Given the description of an element on the screen output the (x, y) to click on. 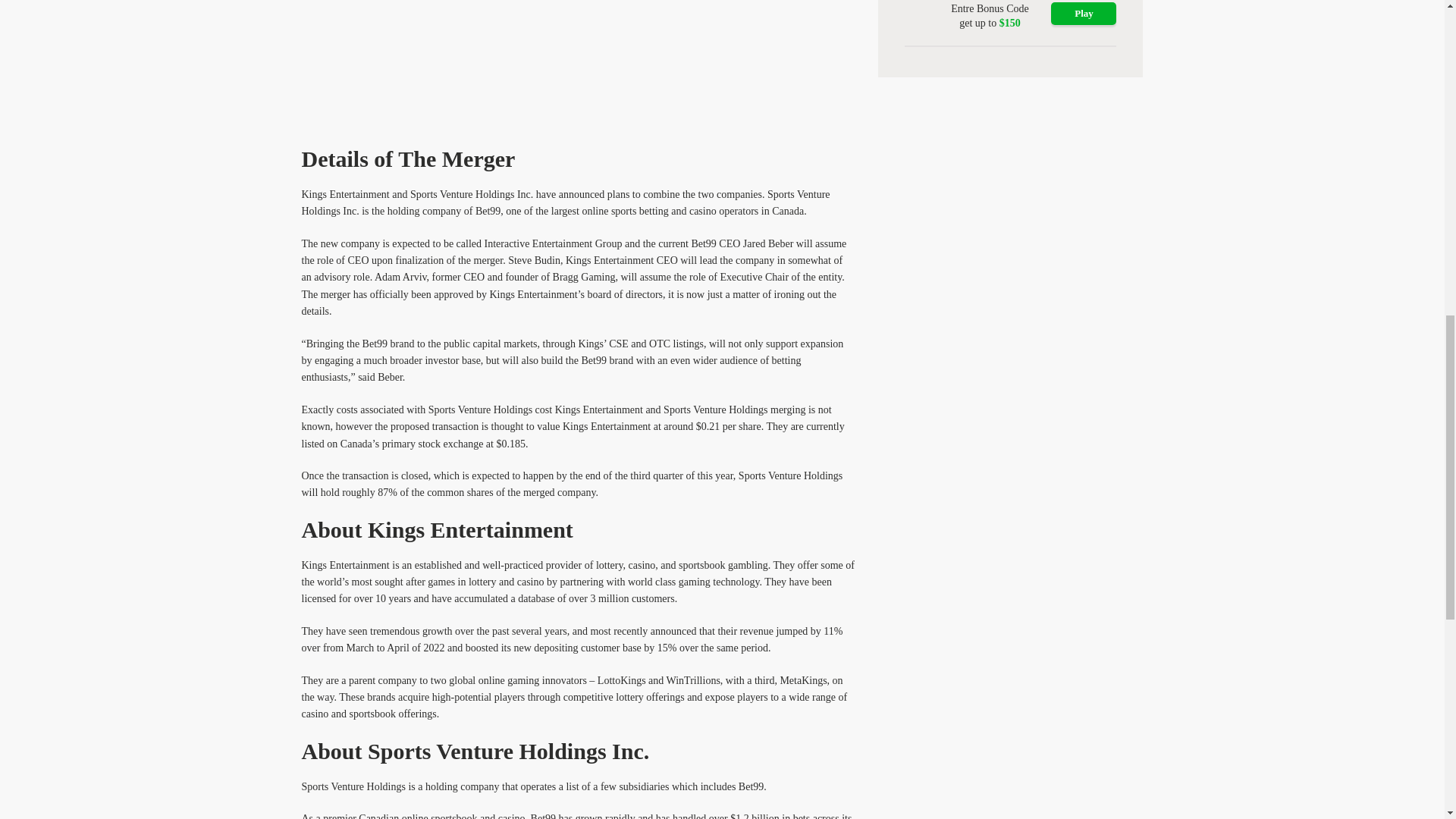
Play (1083, 13)
